Given the description of an element on the screen output the (x, y) to click on. 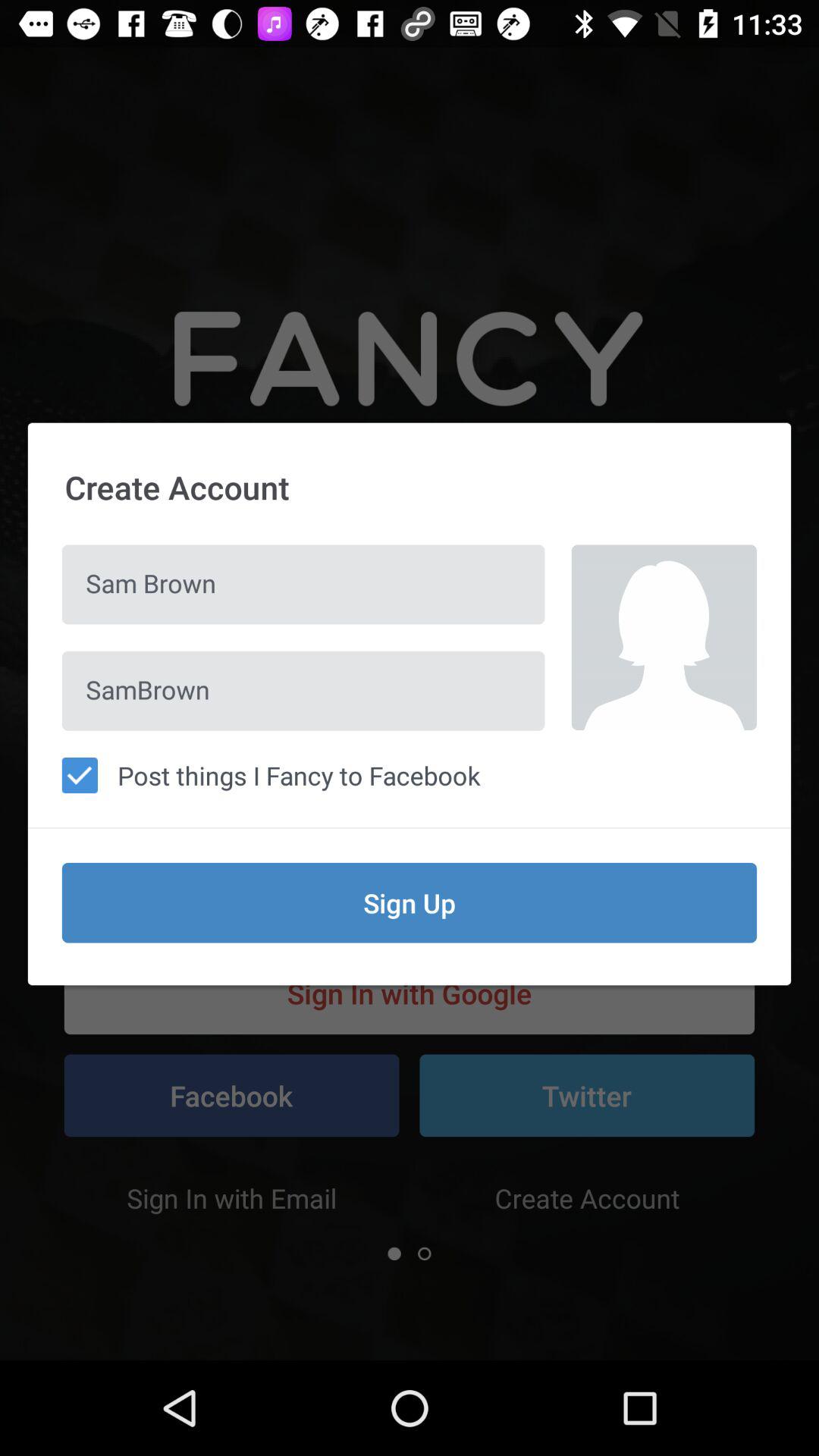
click sambrown icon (302, 690)
